Given the description of an element on the screen output the (x, y) to click on. 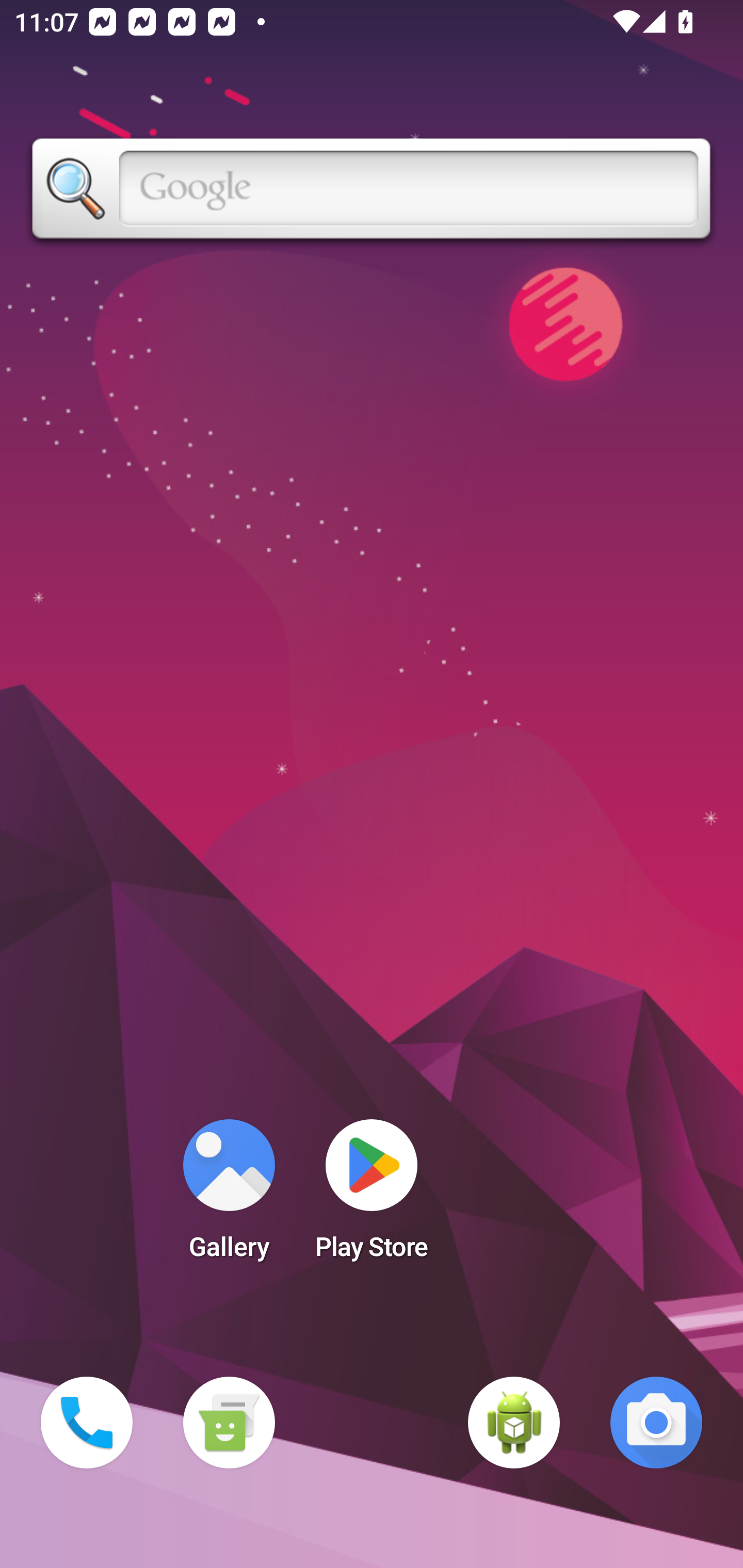
Gallery (228, 1195)
Play Store (371, 1195)
Phone (86, 1422)
Messaging (228, 1422)
WebView Browser Tester (513, 1422)
Camera (656, 1422)
